Given the description of an element on the screen output the (x, y) to click on. 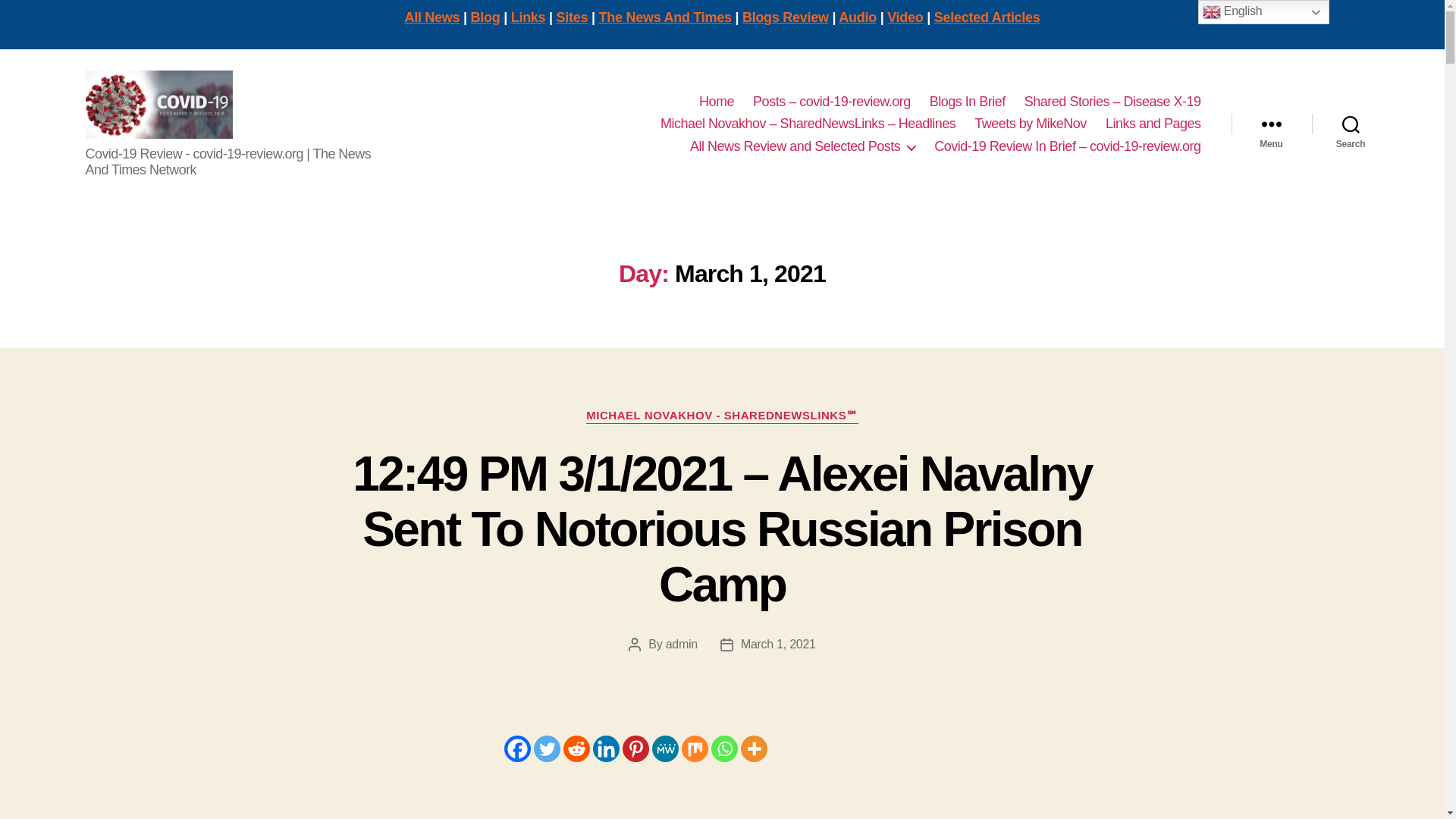
Blogs In Brief (968, 102)
Reddit (575, 748)
Whatsapp (724, 748)
The News And Times (665, 17)
All News (432, 17)
Selected Articles (987, 17)
All News Review and Selected Posts (802, 146)
Facebook (516, 748)
Sites (572, 17)
Mix (694, 748)
Search (1350, 123)
Home (715, 102)
Blog (485, 17)
MeWe (665, 748)
Linkedin (606, 748)
